Given the description of an element on the screen output the (x, y) to click on. 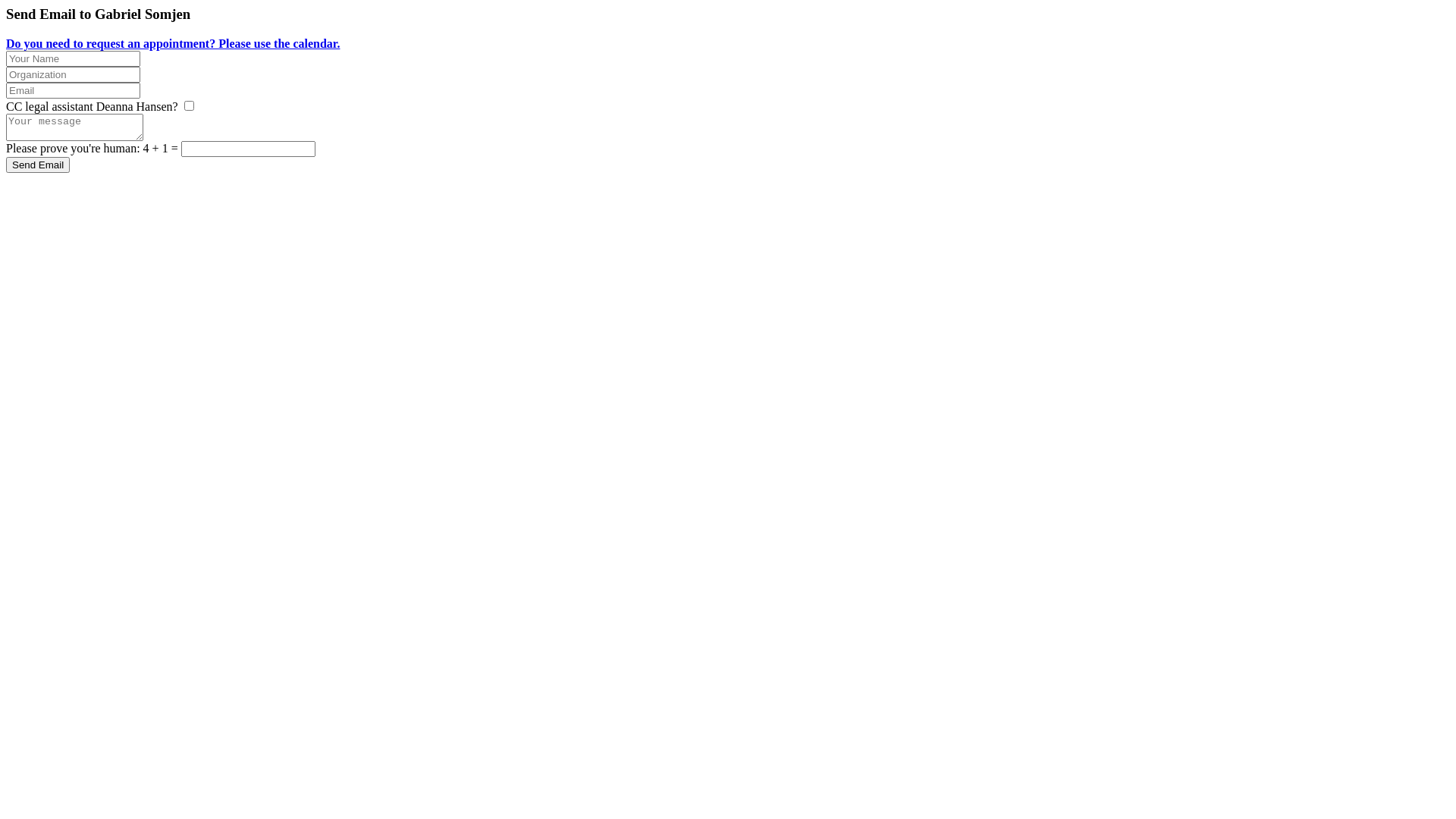
Send Email Element type: text (37, 164)
